Given the description of an element on the screen output the (x, y) to click on. 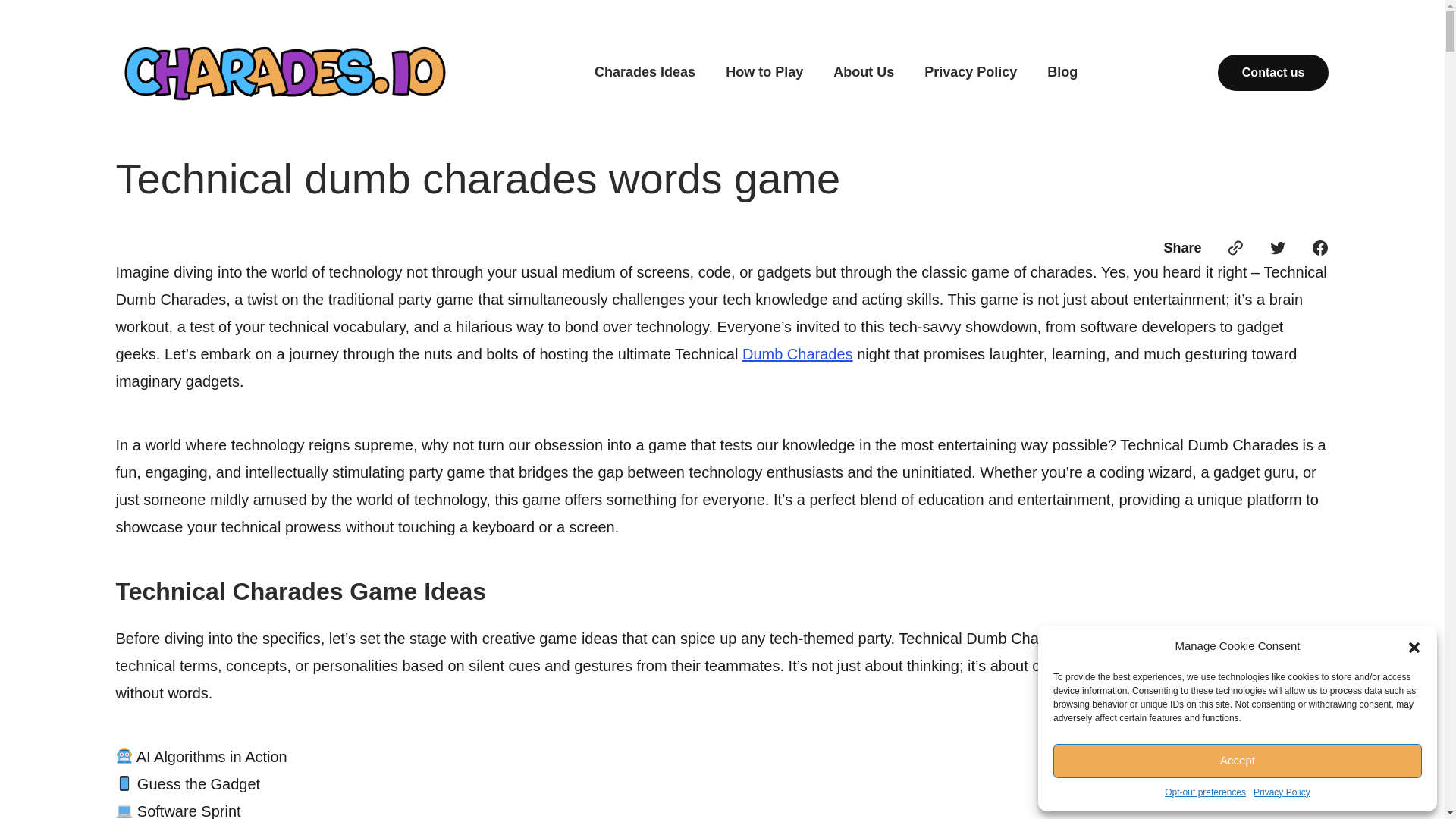
How to Play (764, 72)
Privacy Policy (970, 72)
Opt-out preferences (1205, 792)
Twitter (1276, 248)
About Us (862, 72)
Link (1234, 248)
Blog (1061, 72)
Privacy Policy (1281, 792)
Contact us (1273, 72)
Charades Ideas (644, 72)
